Given the description of an element on the screen output the (x, y) to click on. 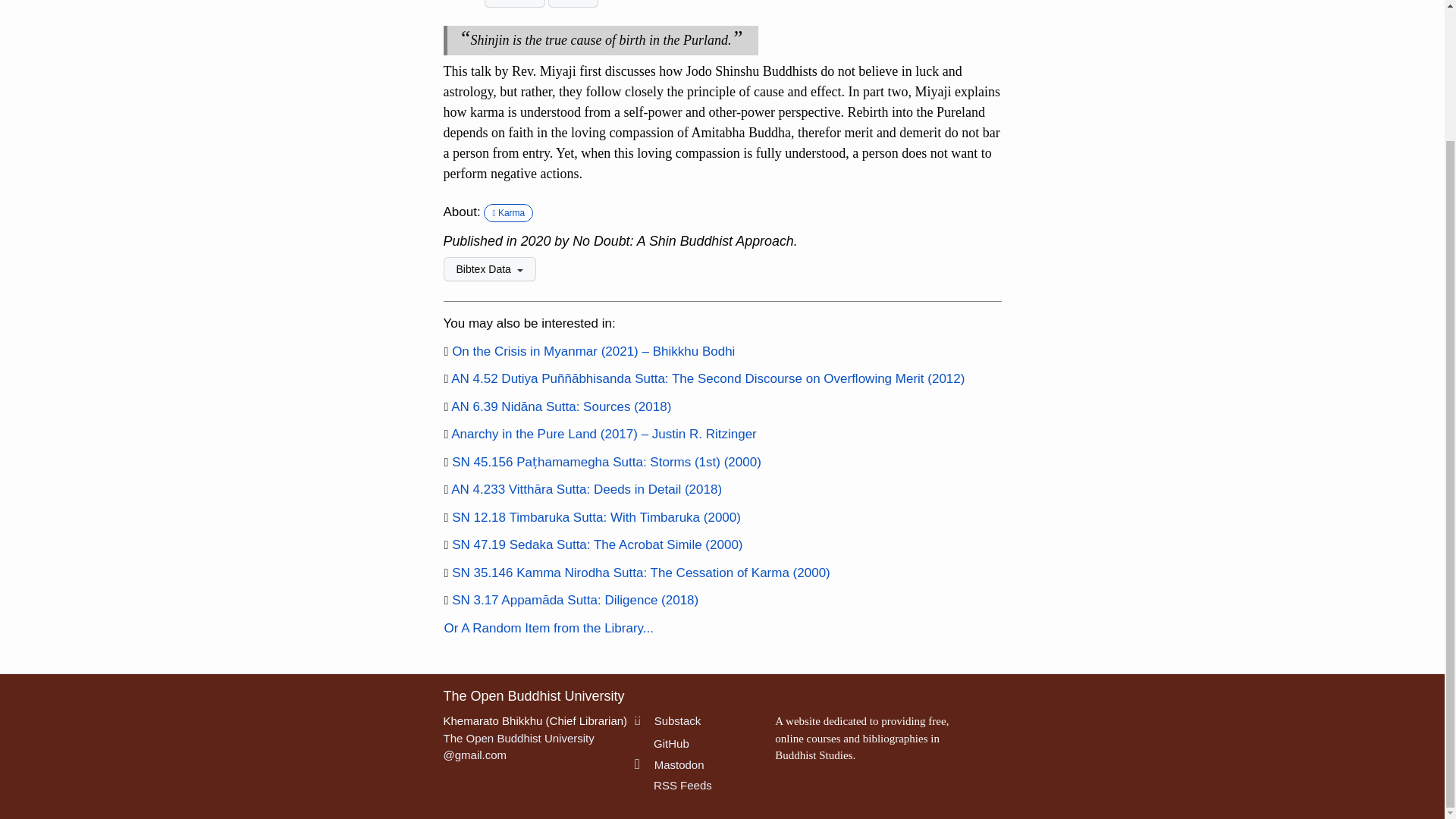
is canonical (446, 573)
Mastodon (669, 764)
is canonical (446, 544)
can be found on any podcast app (446, 351)
GitHub (661, 743)
can be found on any podcast app (446, 434)
Online (514, 3)
is canonical (446, 407)
Karma (507, 212)
is canonical (446, 378)
RSS Feeds (672, 784)
is canonical (446, 490)
is canonical (446, 462)
is canonical (446, 600)
is canonical (446, 517)
